Given the description of an element on the screen output the (x, y) to click on. 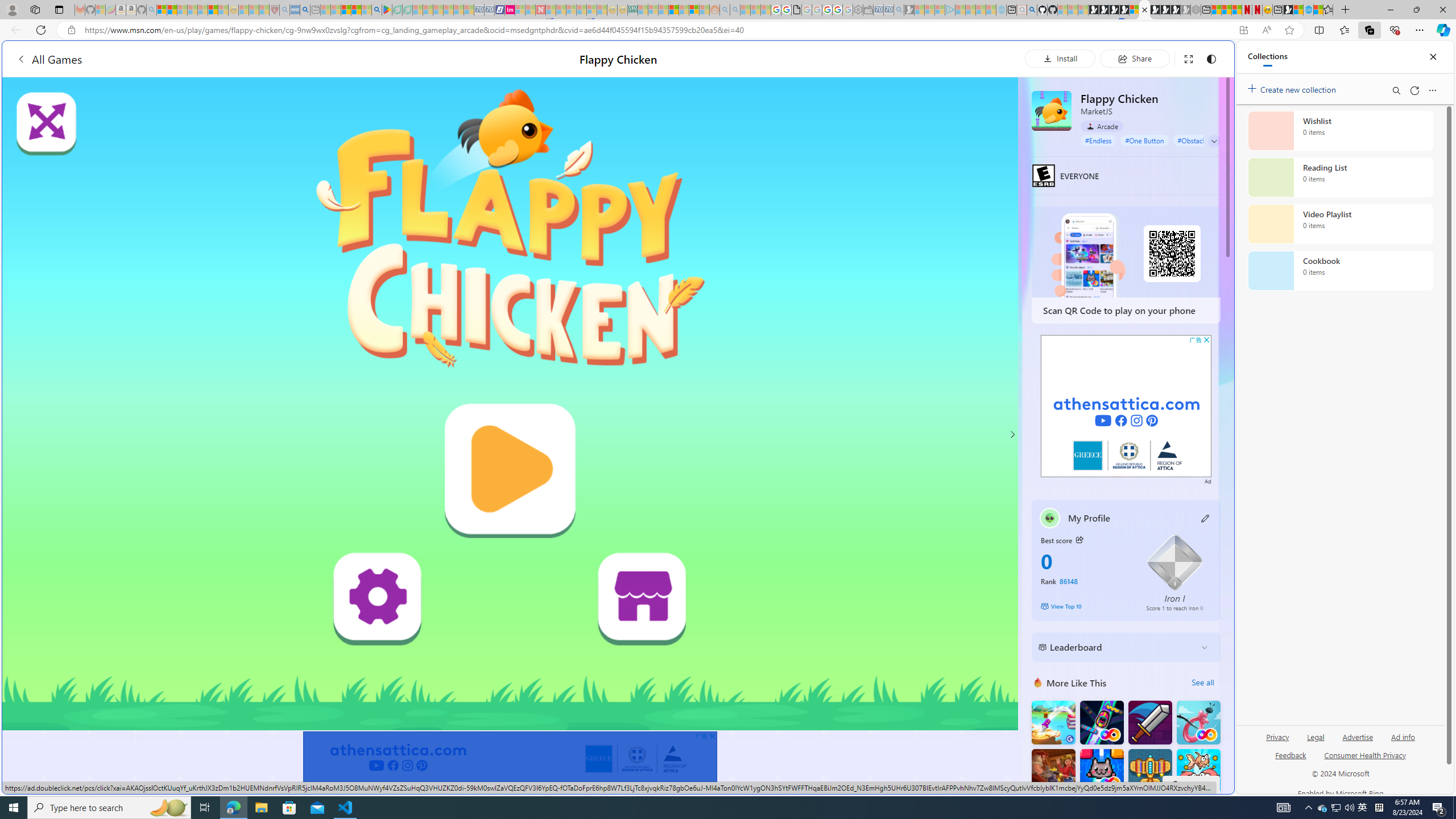
See all (1202, 682)
Video Playlist collection, 0 items (1339, 223)
Reading List collection, 0 items (1339, 177)
Knife Flip (1053, 722)
Services - Maintenance | Sky Blue Bikes - Sky Blue Bikes (1307, 9)
